Given the description of an element on the screen output the (x, y) to click on. 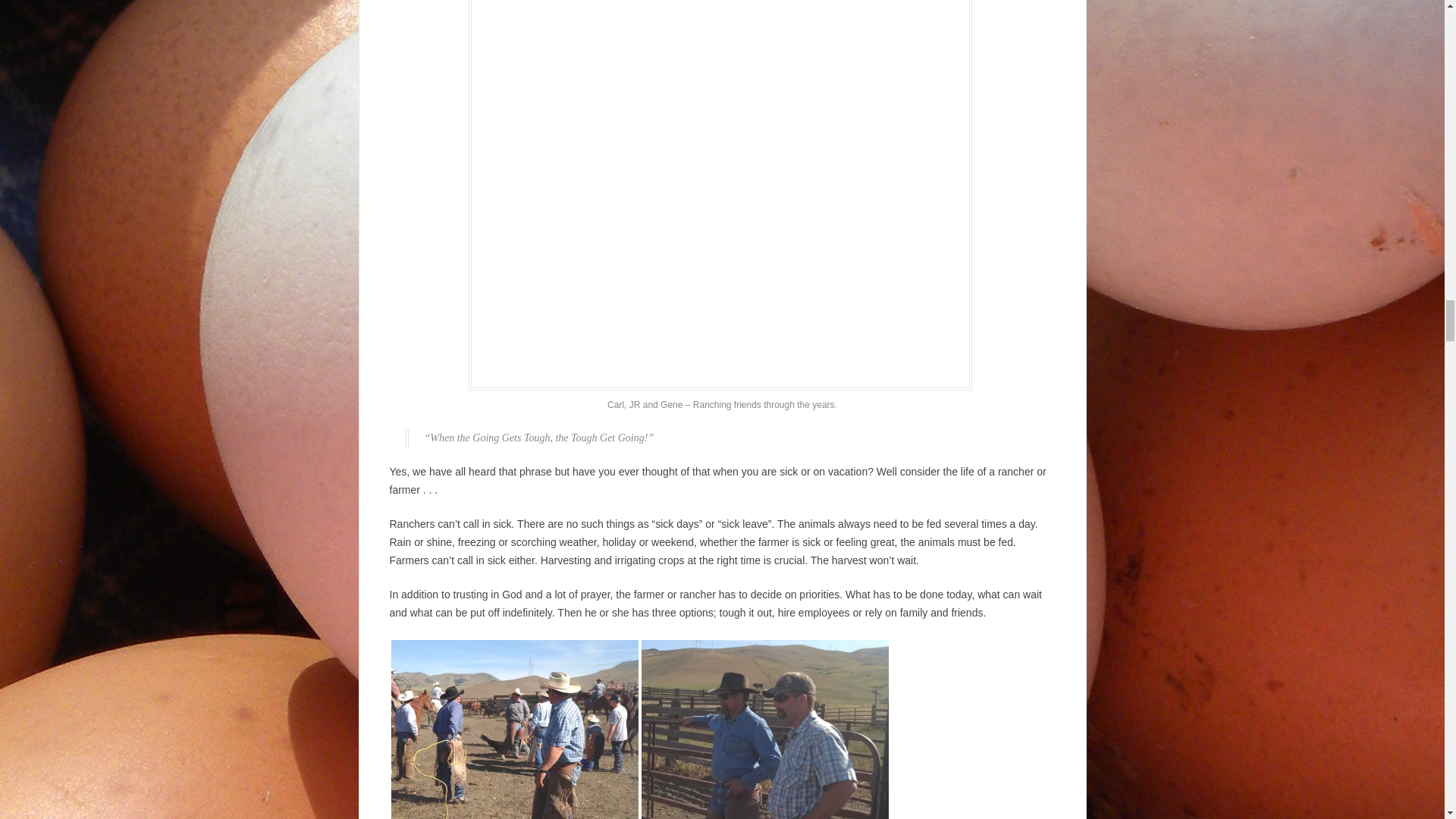
We're here to help (765, 729)
Ranching friends help out (515, 729)
